Given the description of an element on the screen output the (x, y) to click on. 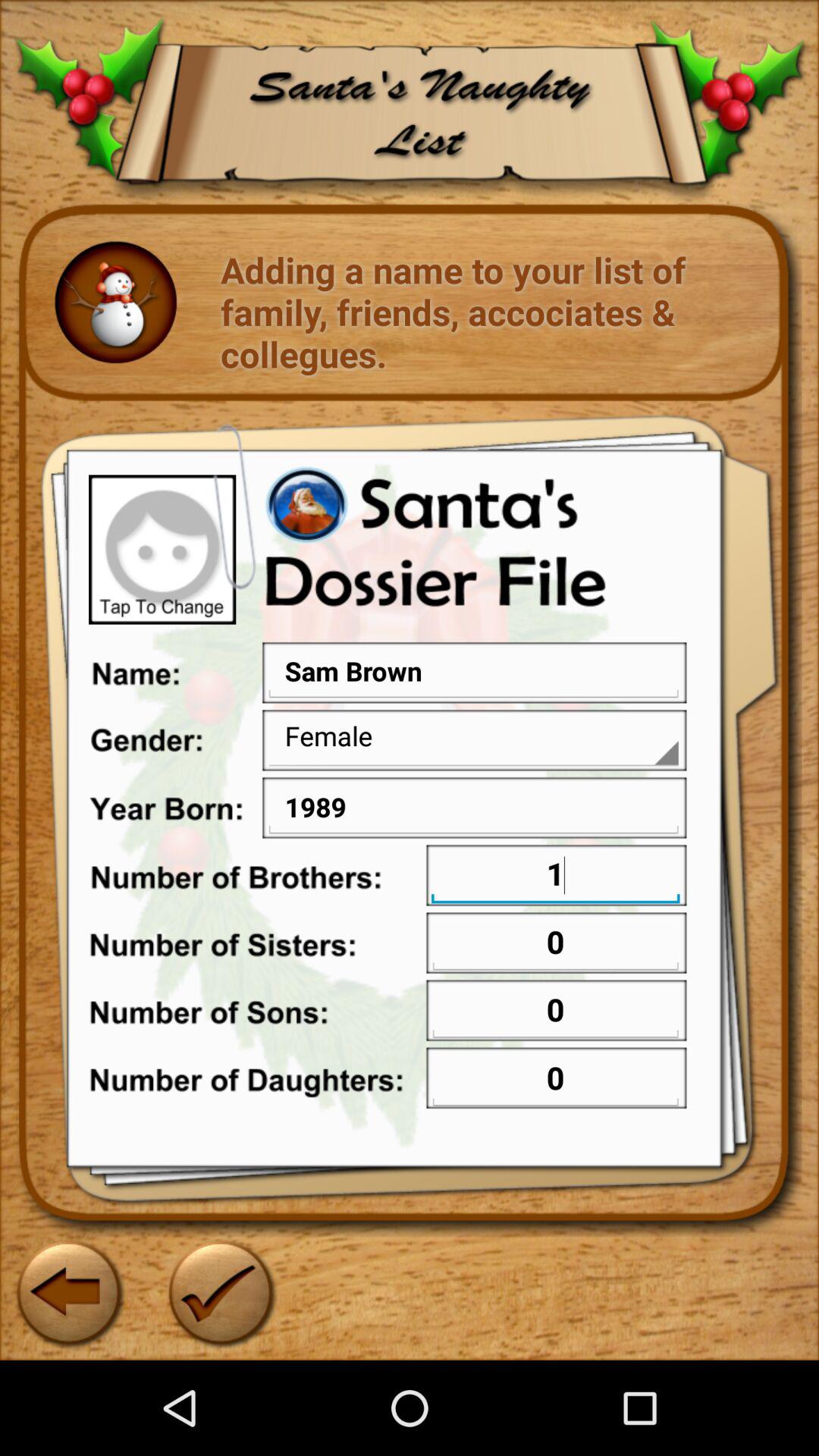
click on 0 above 0 (555, 1011)
click on text box in 7th row (555, 1079)
select the text field on the right next to the text number of brotherson the web page (555, 876)
select the gender field (473, 737)
select the number of sister field (555, 944)
click on the icon above name (161, 549)
